Given the description of an element on the screen output the (x, y) to click on. 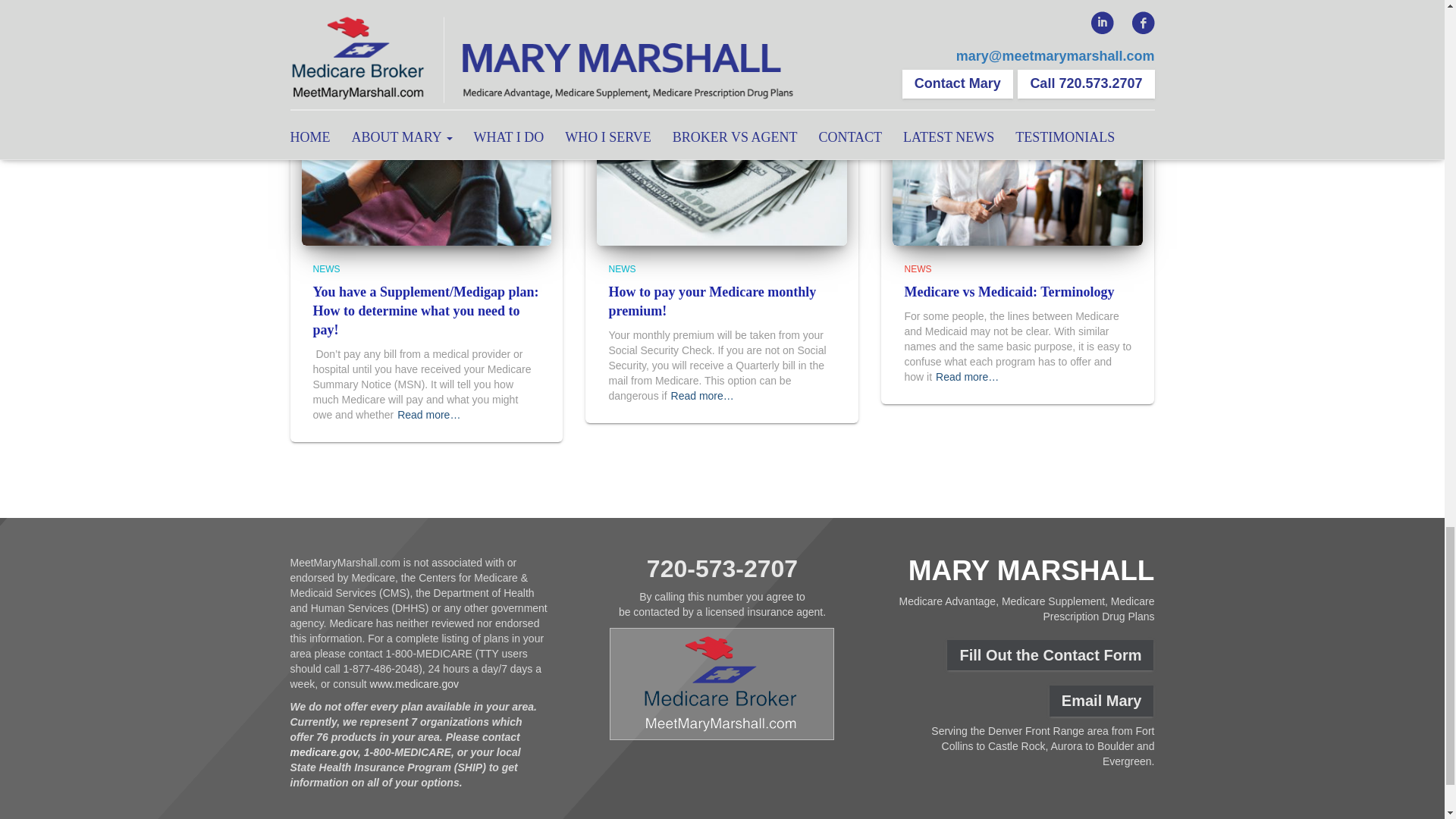
NEWS (326, 268)
